Given the description of an element on the screen output the (x, y) to click on. 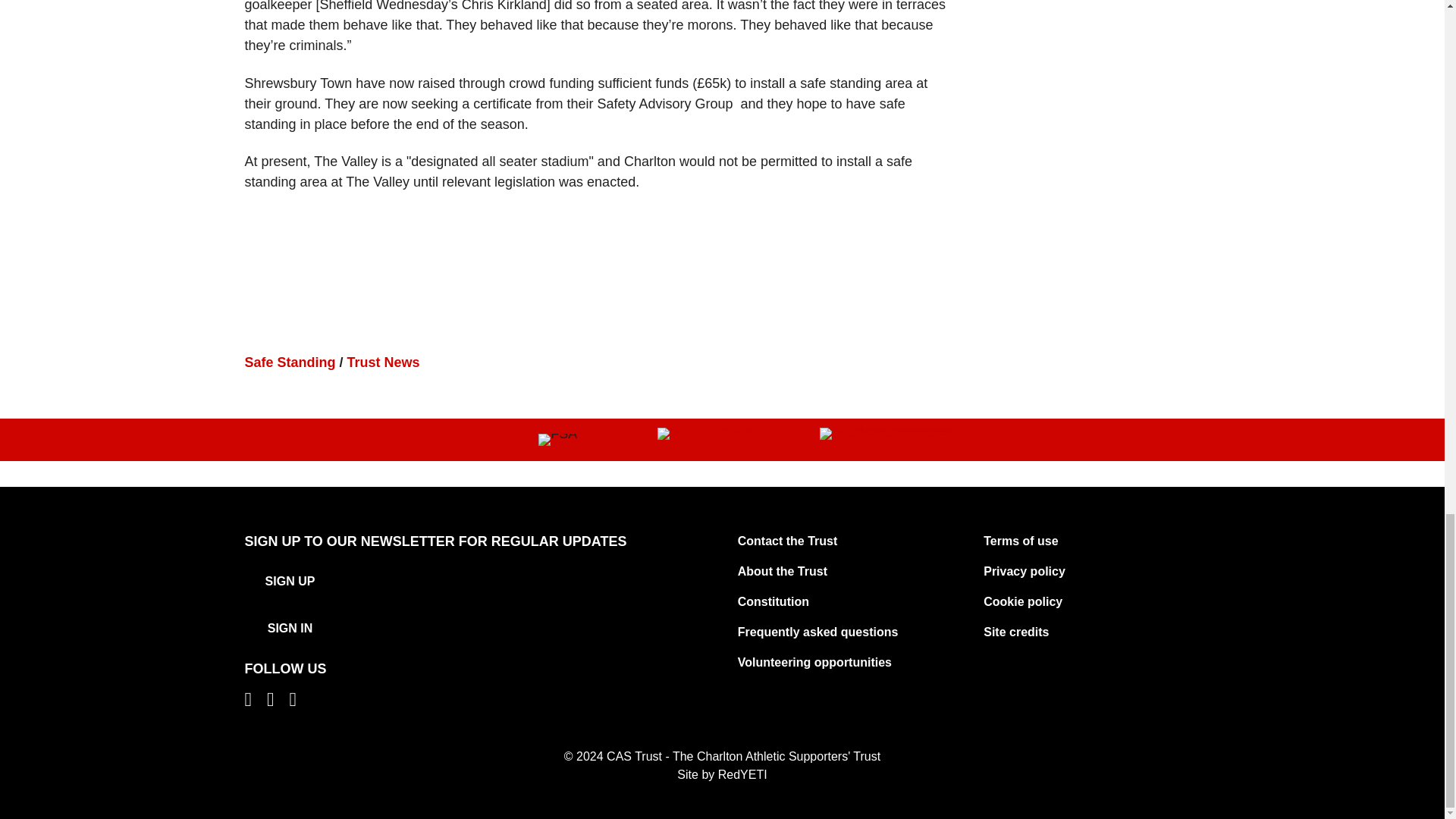
FSA (557, 439)
Trust News (383, 362)
CASTrust-Site-Icon (722, 433)
Safe Standing (289, 362)
